Given the description of an element on the screen output the (x, y) to click on. 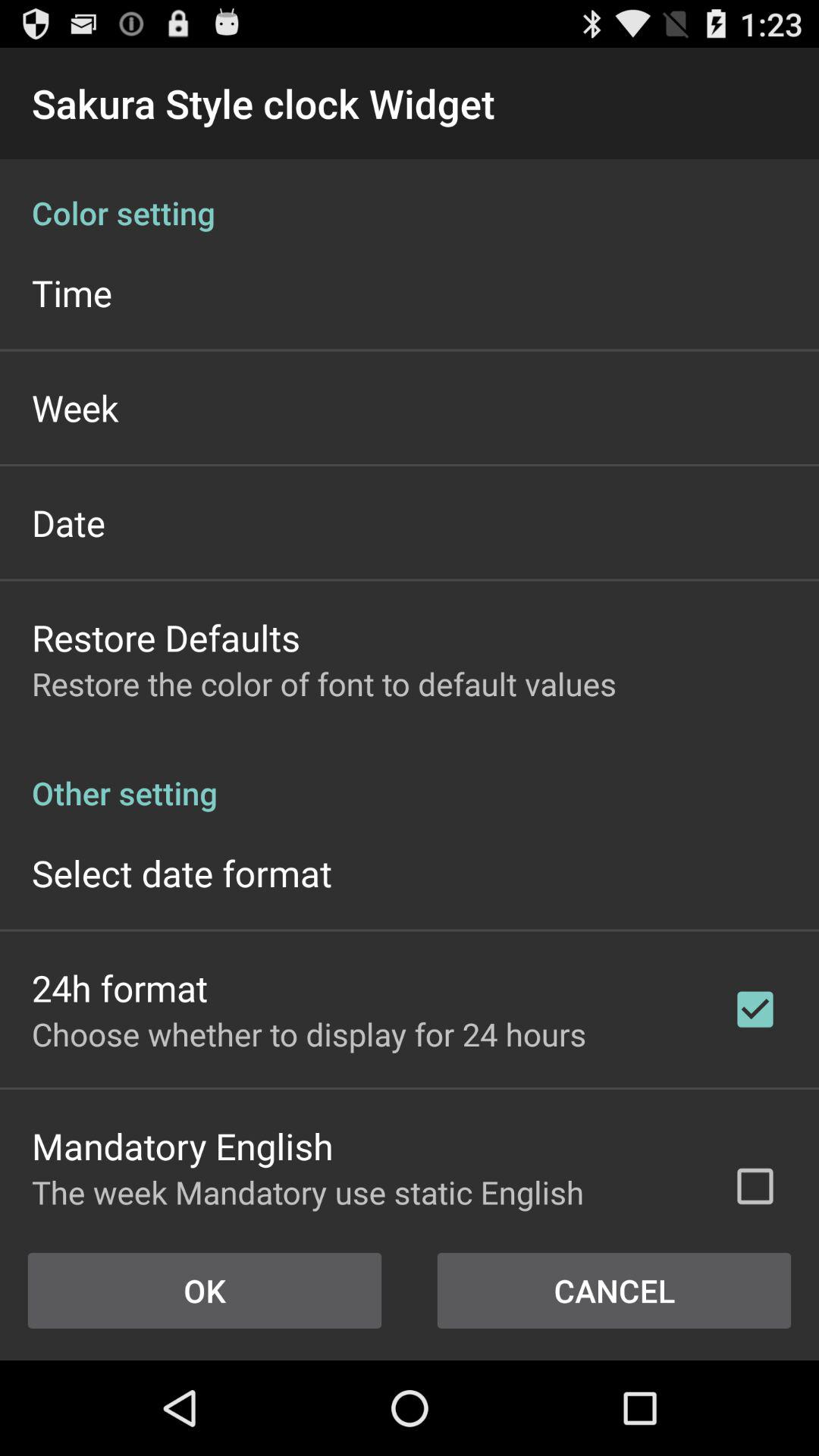
flip until restore the color item (323, 683)
